Given the description of an element on the screen output the (x, y) to click on. 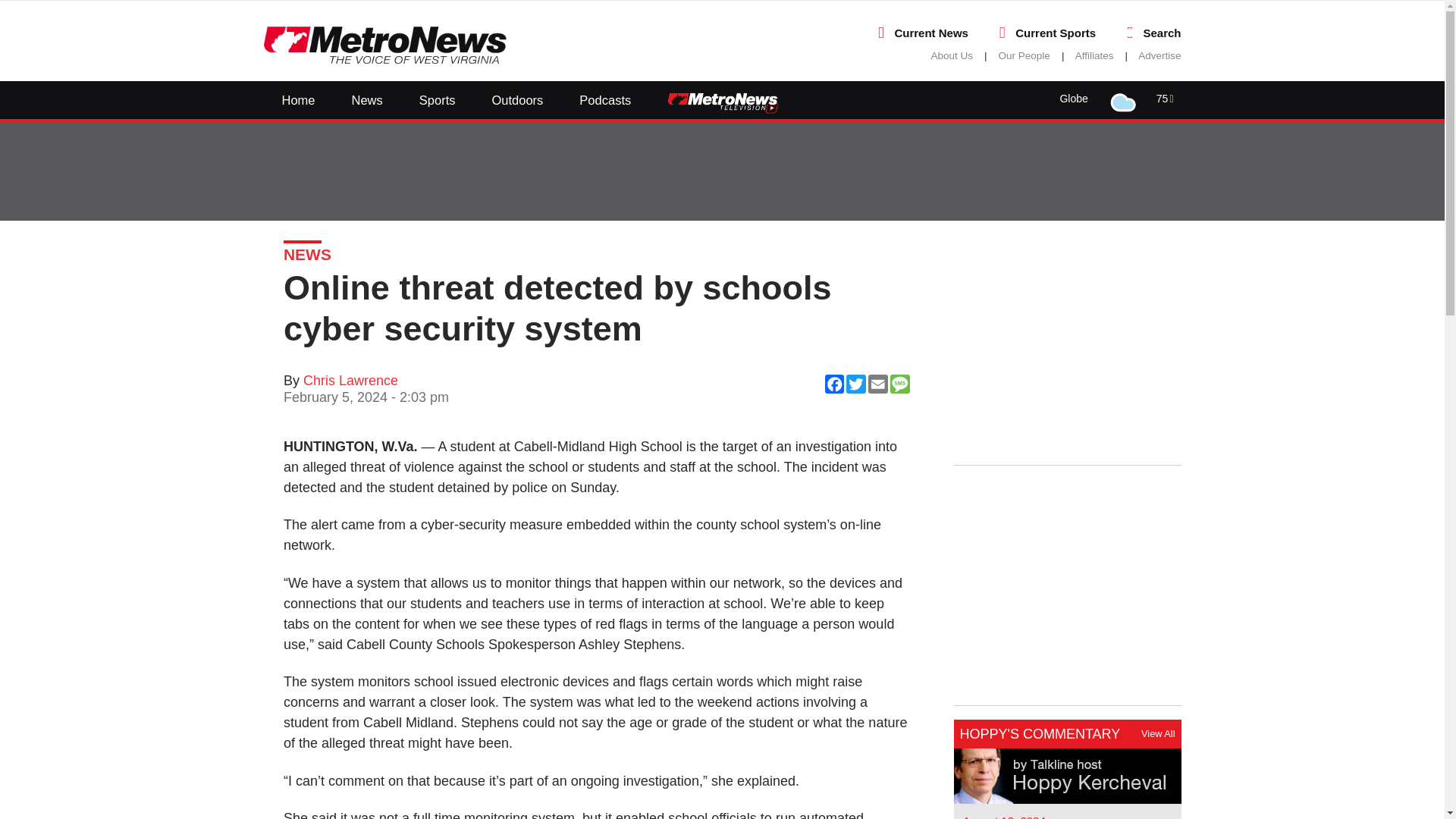
Facebook (1043, 479)
Chris Lawrence (349, 380)
Overcast Clouds (1125, 97)
Twitter (1070, 479)
Affiliates (1094, 55)
Sports (437, 99)
NEWS (307, 253)
Current Sports (1055, 32)
Current News (930, 32)
Podcasts (604, 99)
